Given the description of an element on the screen output the (x, y) to click on. 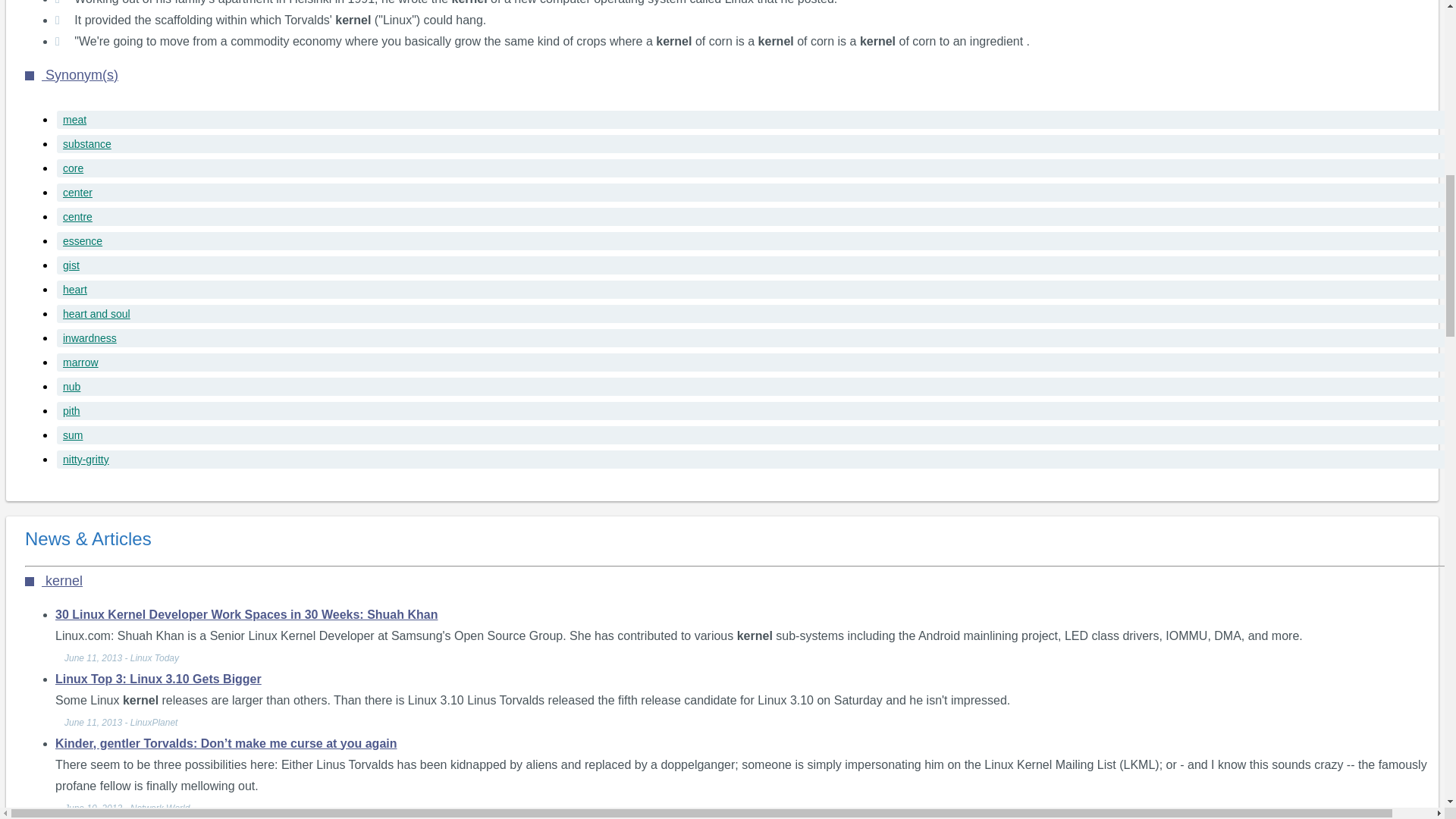
Linux Top 3: Linux 3.10 Gets Bigger (158, 677)
  kernel (53, 580)
